Given the description of an element on the screen output the (x, y) to click on. 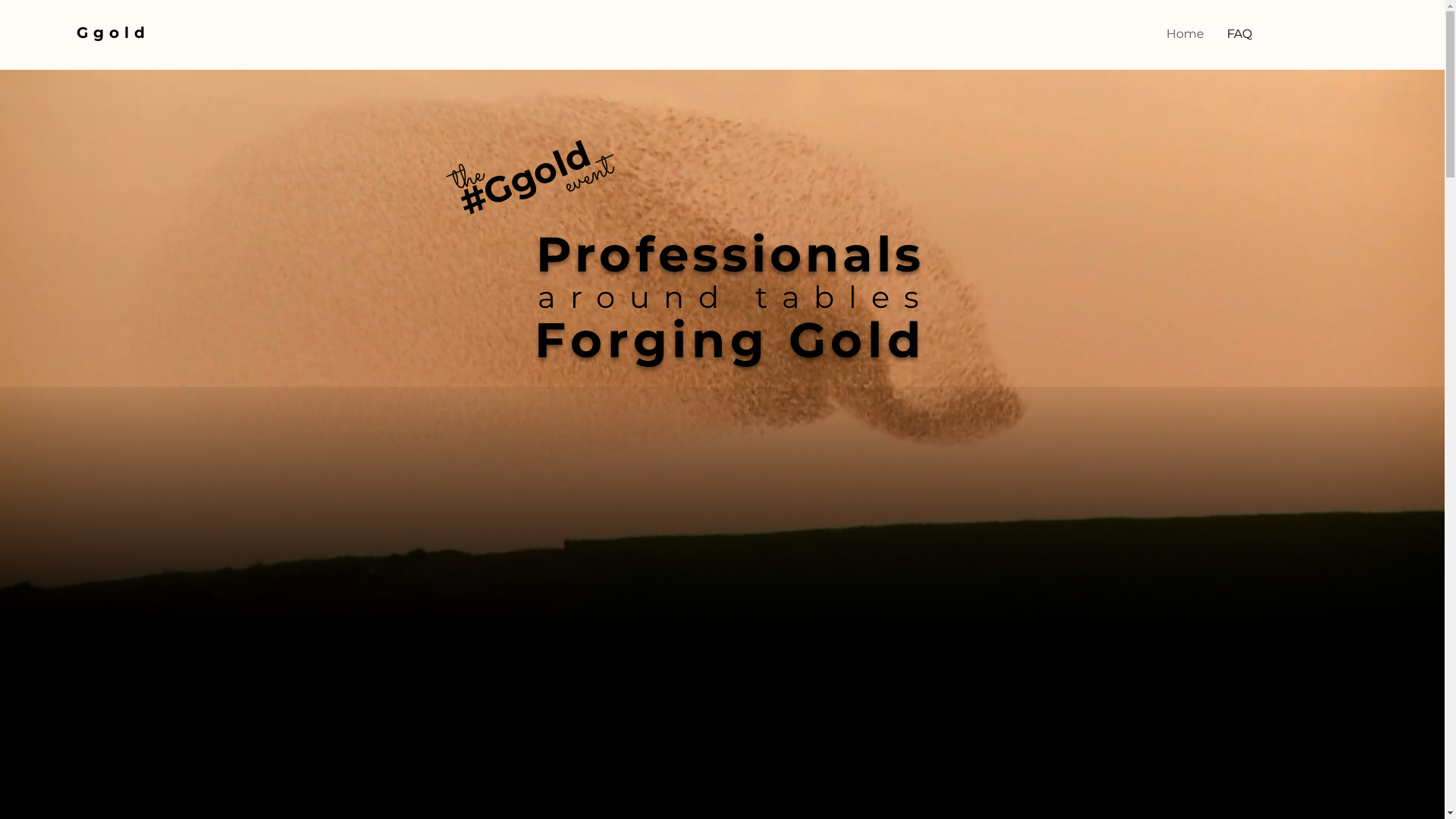
FAQ Element type: text (1239, 34)
Home Element type: text (1184, 34)
Ggold Element type: text (113, 32)
